Given the description of an element on the screen output the (x, y) to click on. 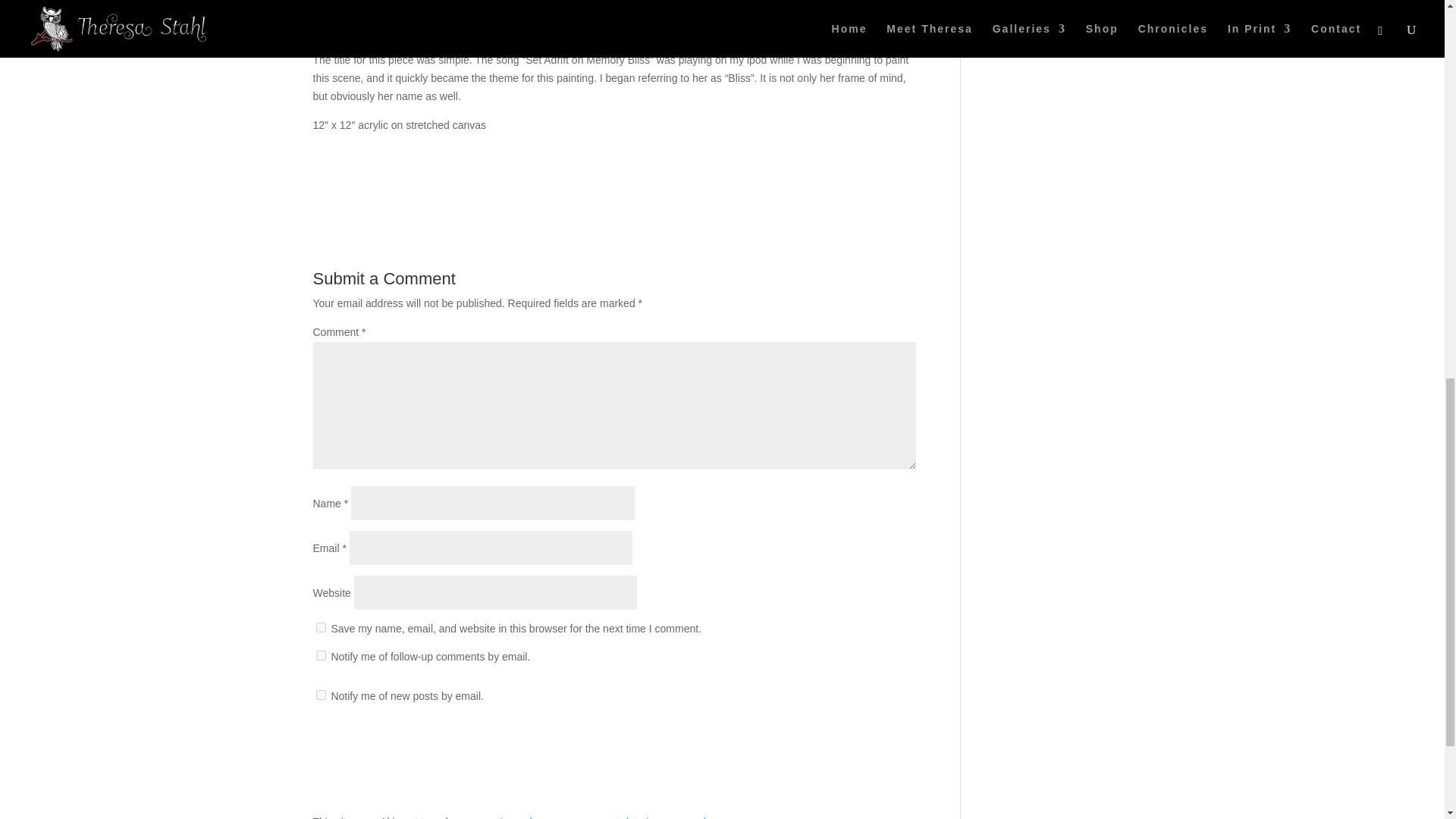
yes (319, 627)
subscribe (319, 695)
subscribe (319, 655)
Learn how your comment data is processed (602, 817)
Submit Comment (840, 745)
Submit Comment (840, 745)
